Given the description of an element on the screen output the (x, y) to click on. 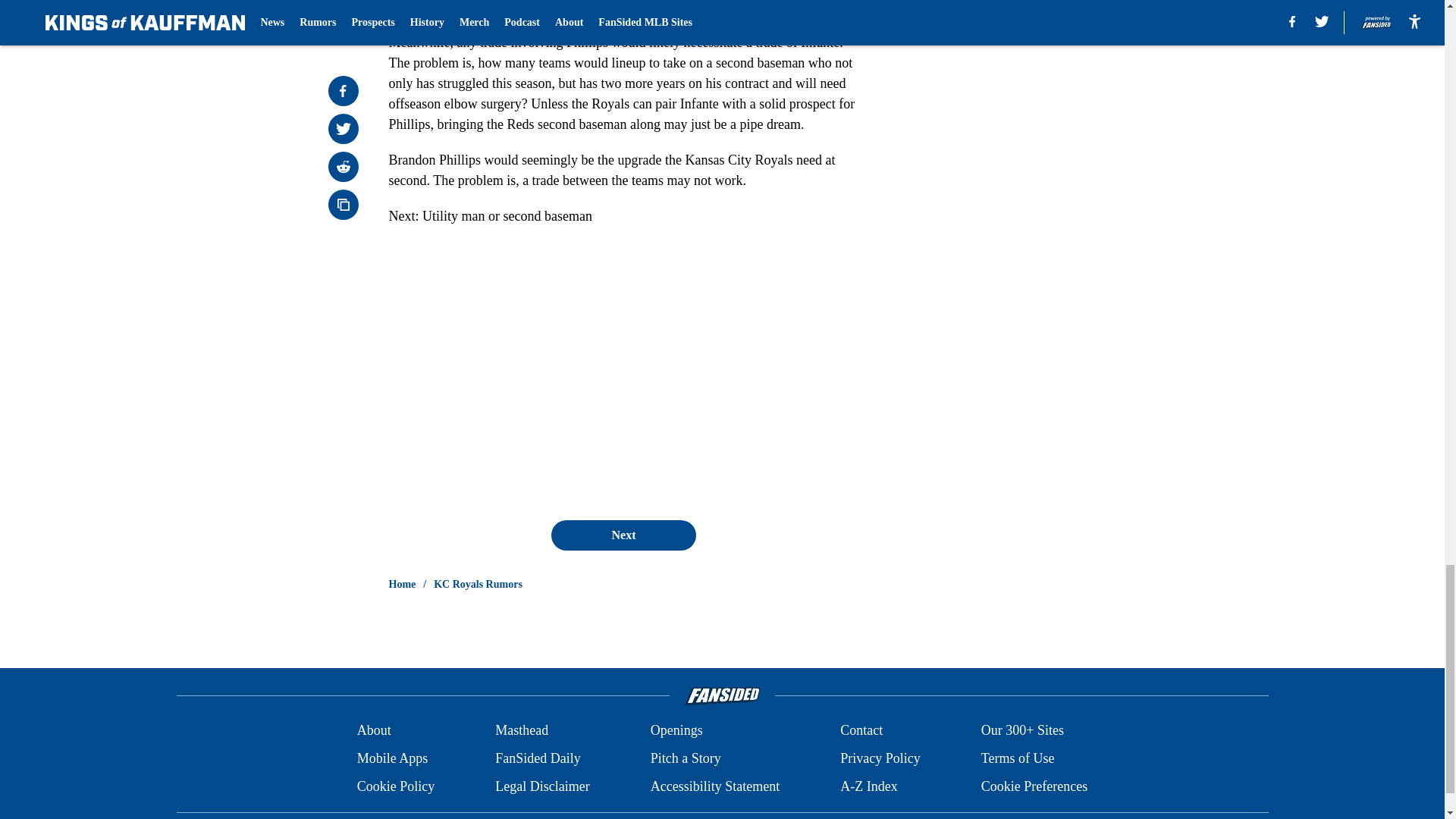
Masthead (521, 730)
About (373, 730)
Next (622, 535)
Contact (861, 730)
Mobile Apps (392, 758)
Home (401, 584)
KC Royals Rumors (477, 584)
Openings (676, 730)
